Given the description of an element on the screen output the (x, y) to click on. 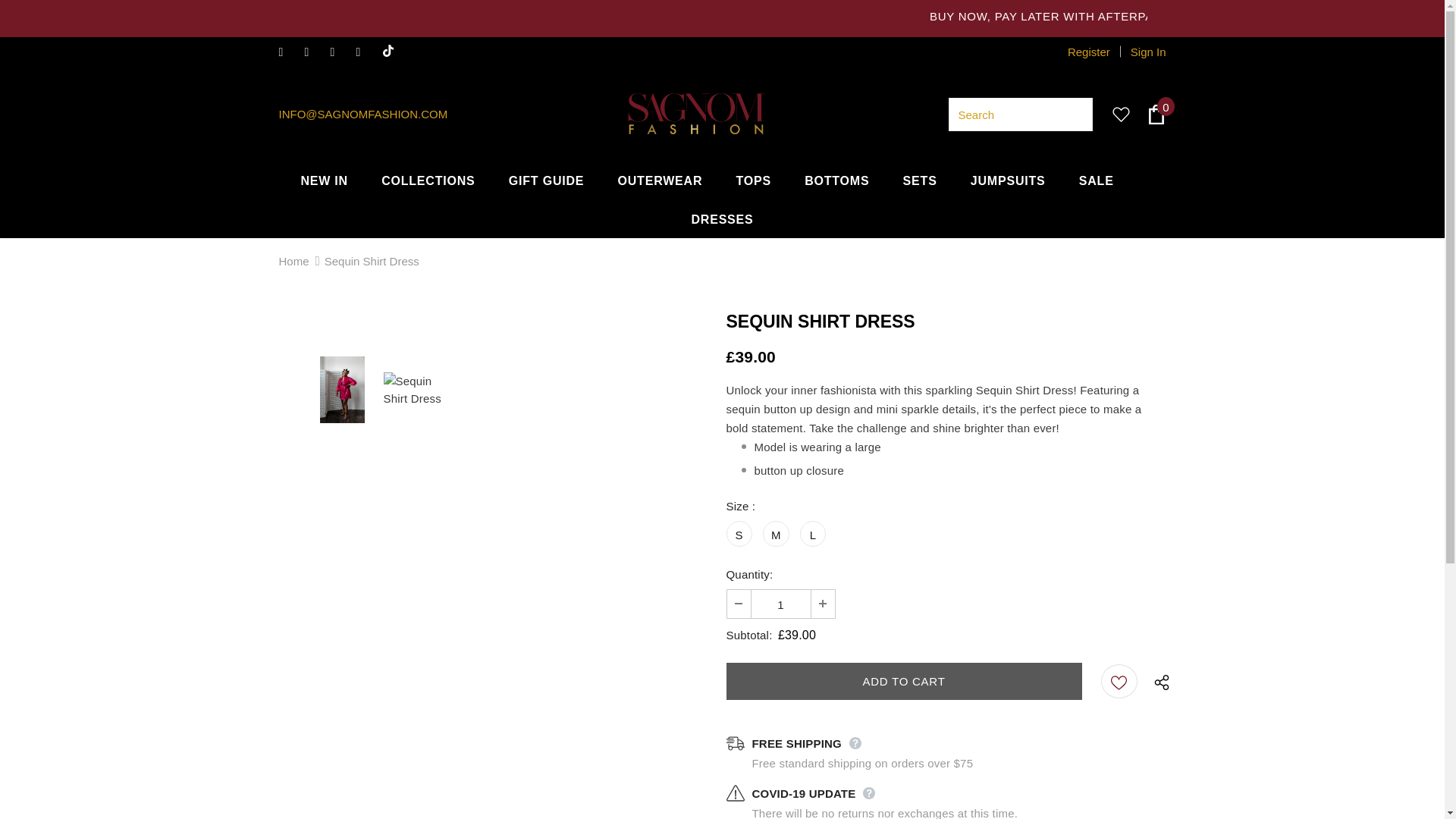
YouTube (365, 52)
Logo (697, 113)
Facebook (288, 52)
SETS (919, 180)
BOTTOMS (837, 180)
SALE (1095, 180)
COLLECTIONS (427, 180)
TOPS (752, 180)
DRESSES (721, 218)
NEW IN (323, 180)
Sign In (1142, 51)
GIFT GUIDE (546, 180)
JUMPSUITS (1008, 180)
Pinterest (339, 52)
Tiktok (391, 51)
